Given the description of an element on the screen output the (x, y) to click on. 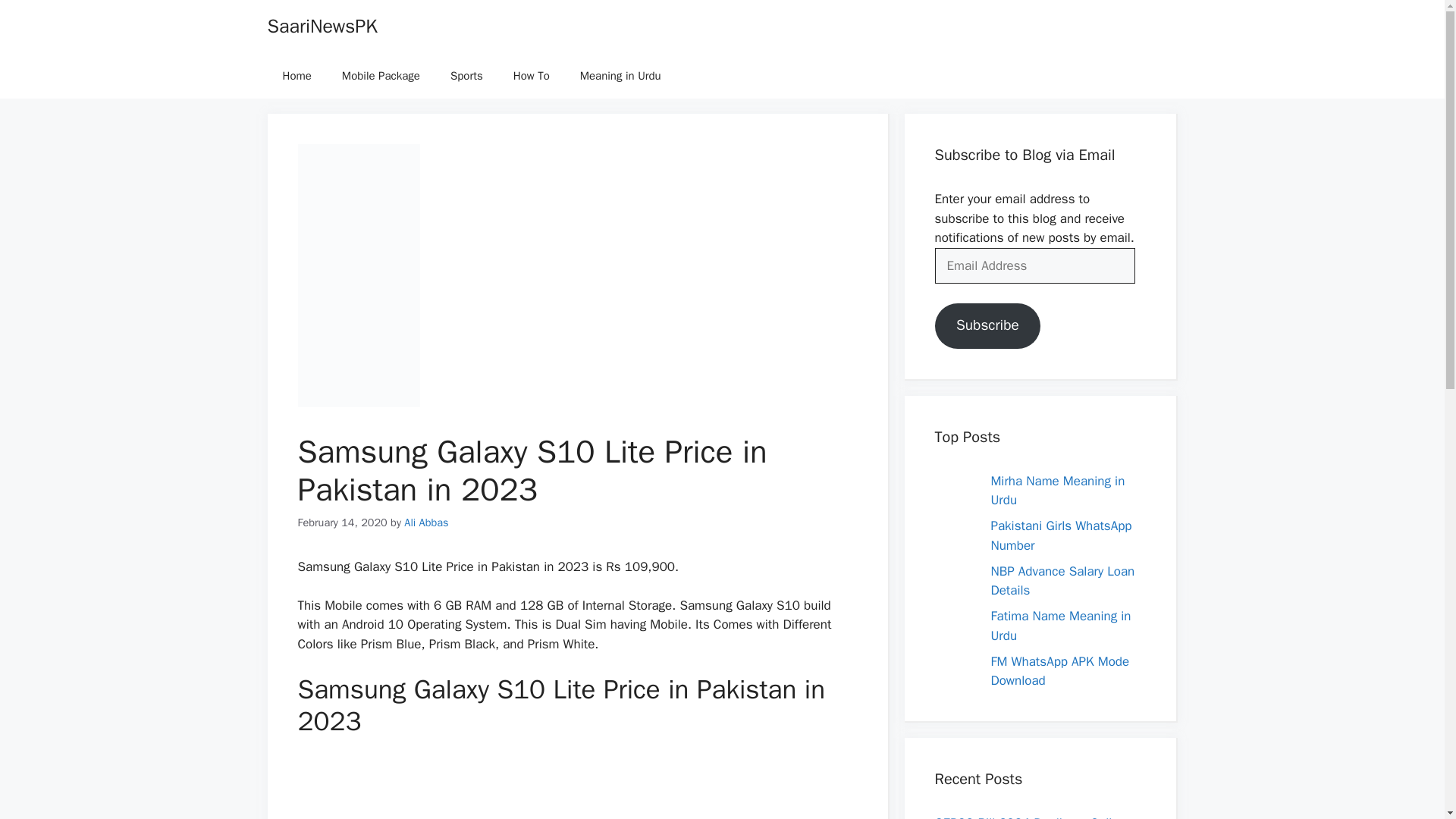
Pakistani Girls WhatsApp Number (1060, 535)
Fatima Name Meaning in Urdu (1060, 625)
Meaning in Urdu (620, 75)
Pakistani Girls WhatsApp Number (1060, 535)
SaariNewsPK (321, 25)
How To (530, 75)
Fatima Name Meaning in Urdu (1060, 625)
FM WhatsApp APK Mode Download (1059, 671)
Mirha Name Meaning in Urdu (1057, 490)
View all posts by Ali Abbas (426, 522)
